Given the description of an element on the screen output the (x, y) to click on. 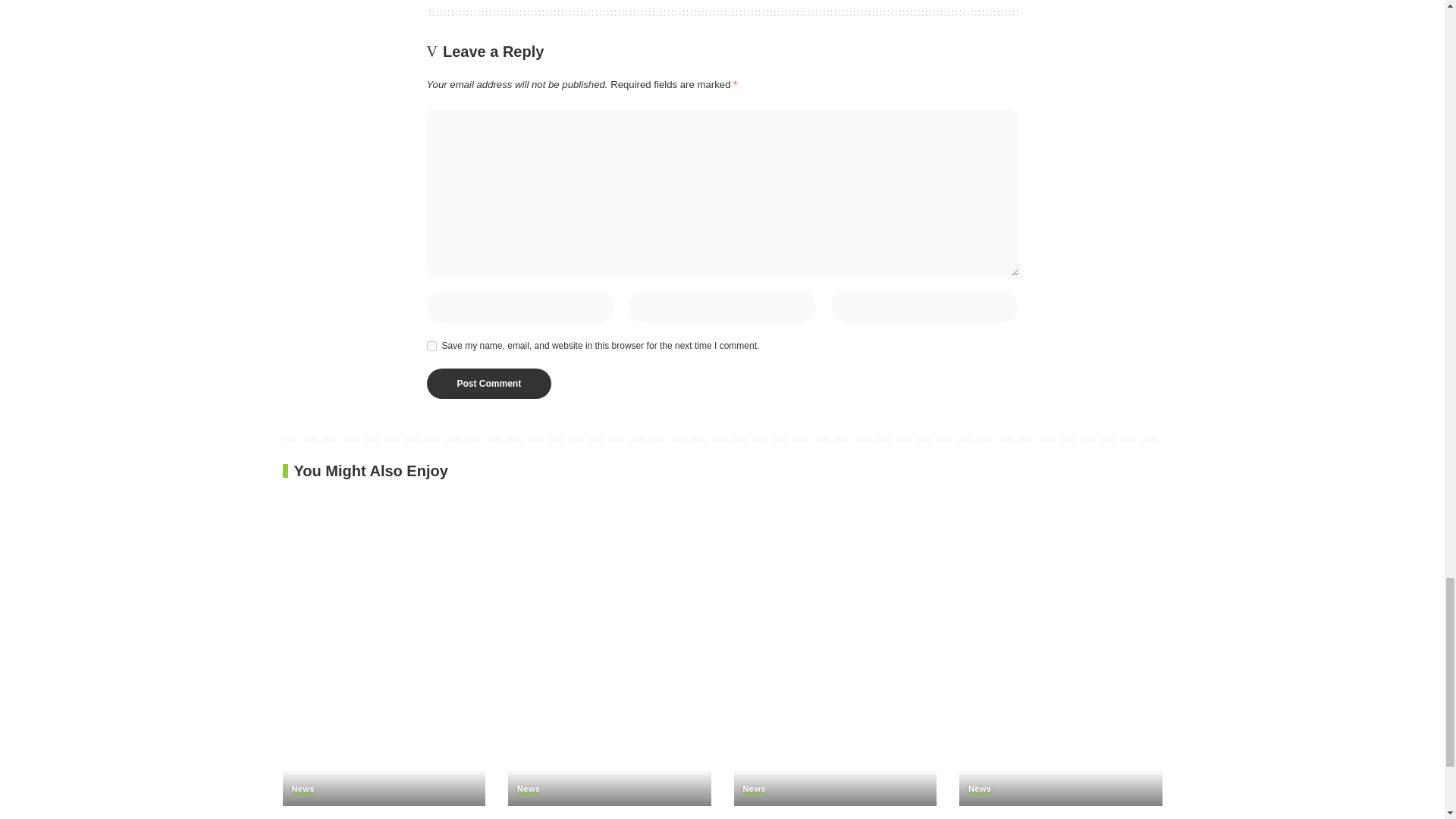
Post Comment (488, 383)
yes (430, 346)
News (302, 789)
News (753, 789)
News (528, 789)
Post Comment (488, 383)
